Given the description of an element on the screen output the (x, y) to click on. 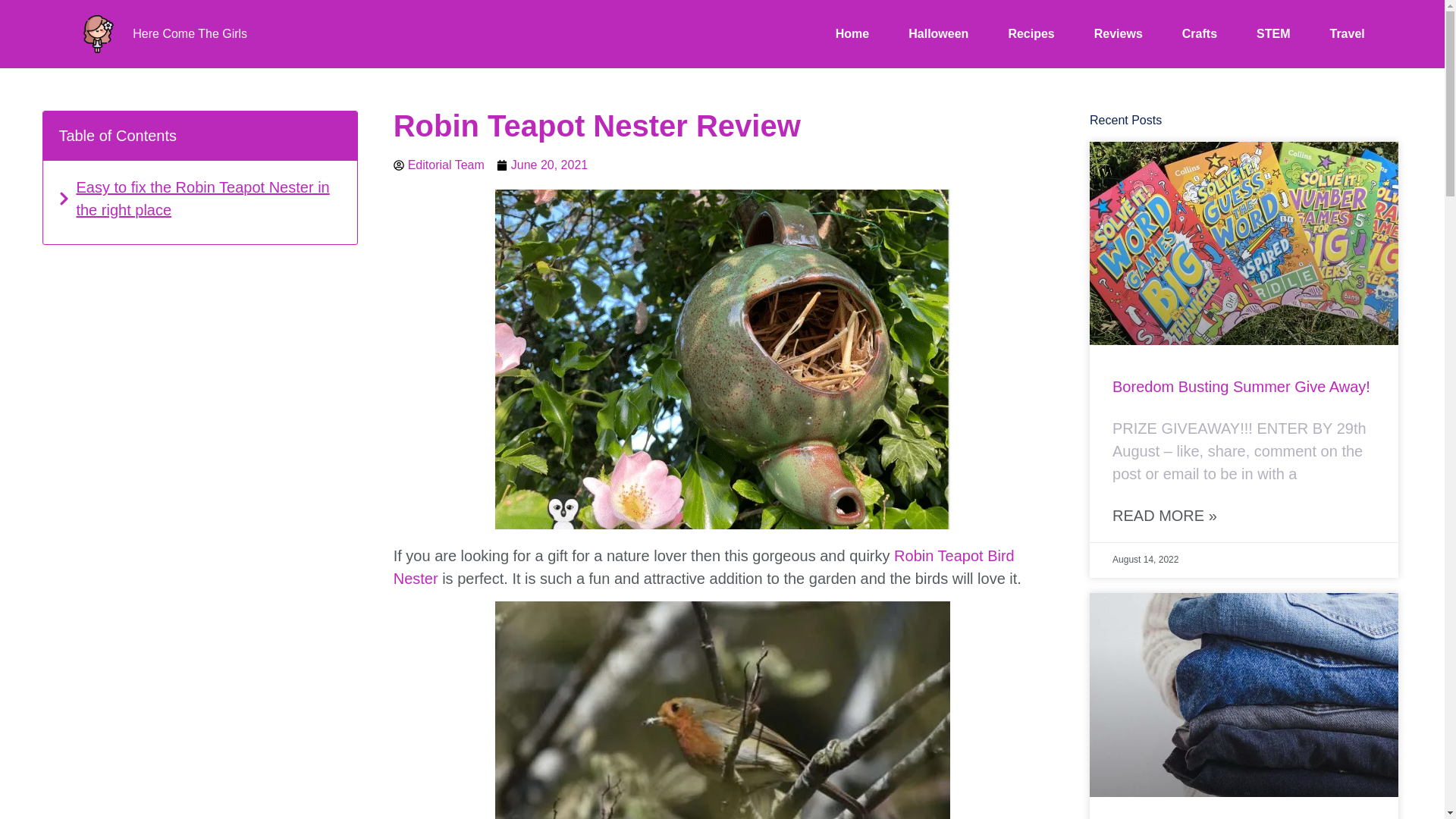
Reviews (1118, 34)
Editorial Team (438, 165)
Easy to fix the Robin Teapot Nester in the right place (208, 198)
Robin Teapot Bird Nester (703, 567)
Travel (1346, 34)
Boredom Busting Summer Give Away! (1241, 386)
STEM (1273, 34)
Halloween (938, 34)
Crafts (1199, 34)
June 20, 2021 (542, 165)
Recipes (1030, 34)
Home (852, 34)
Here Come The Girls (189, 33)
